Given the description of an element on the screen output the (x, y) to click on. 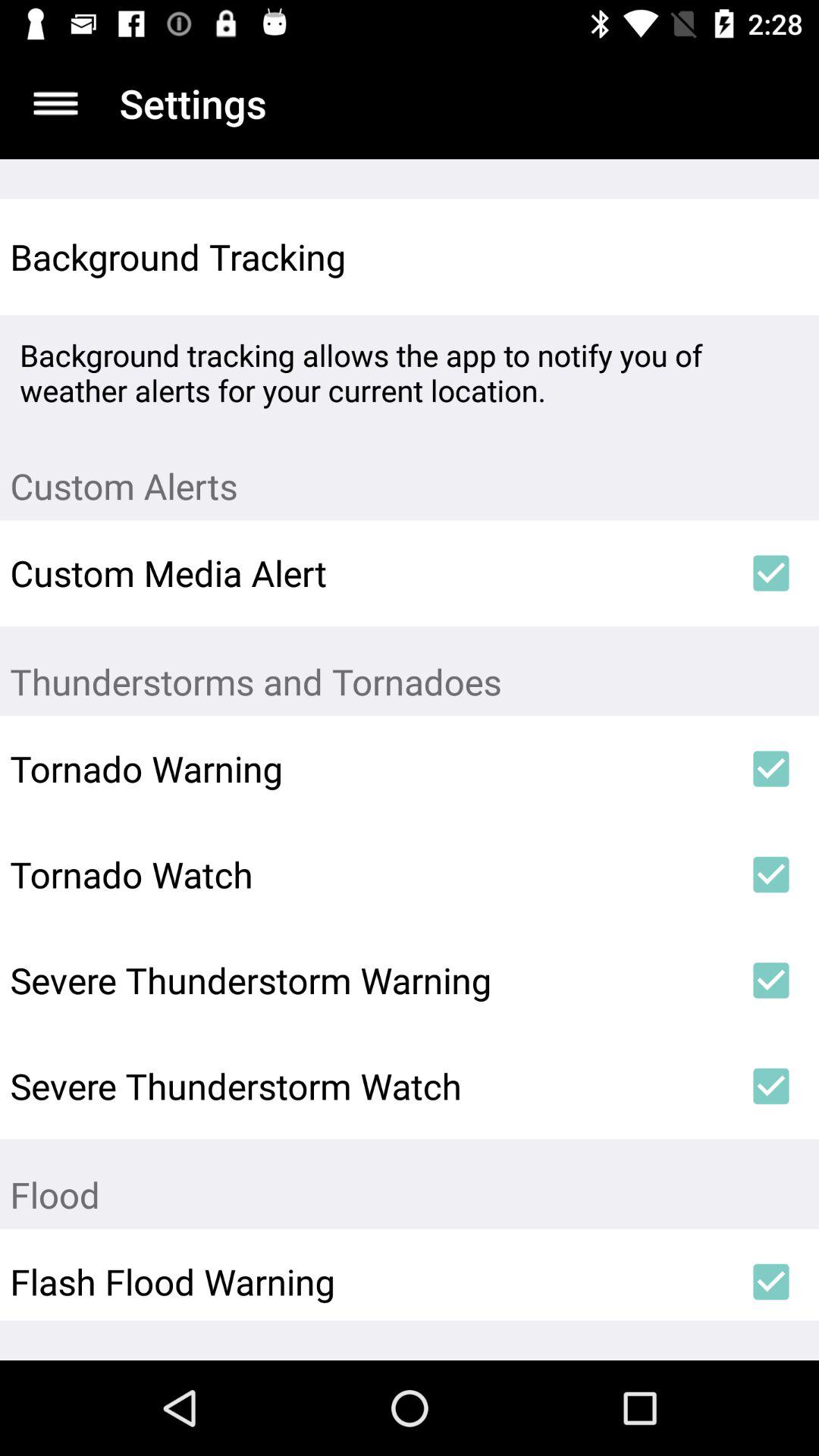
launch icon to the right of tornado watch icon (771, 874)
